Given the description of an element on the screen output the (x, y) to click on. 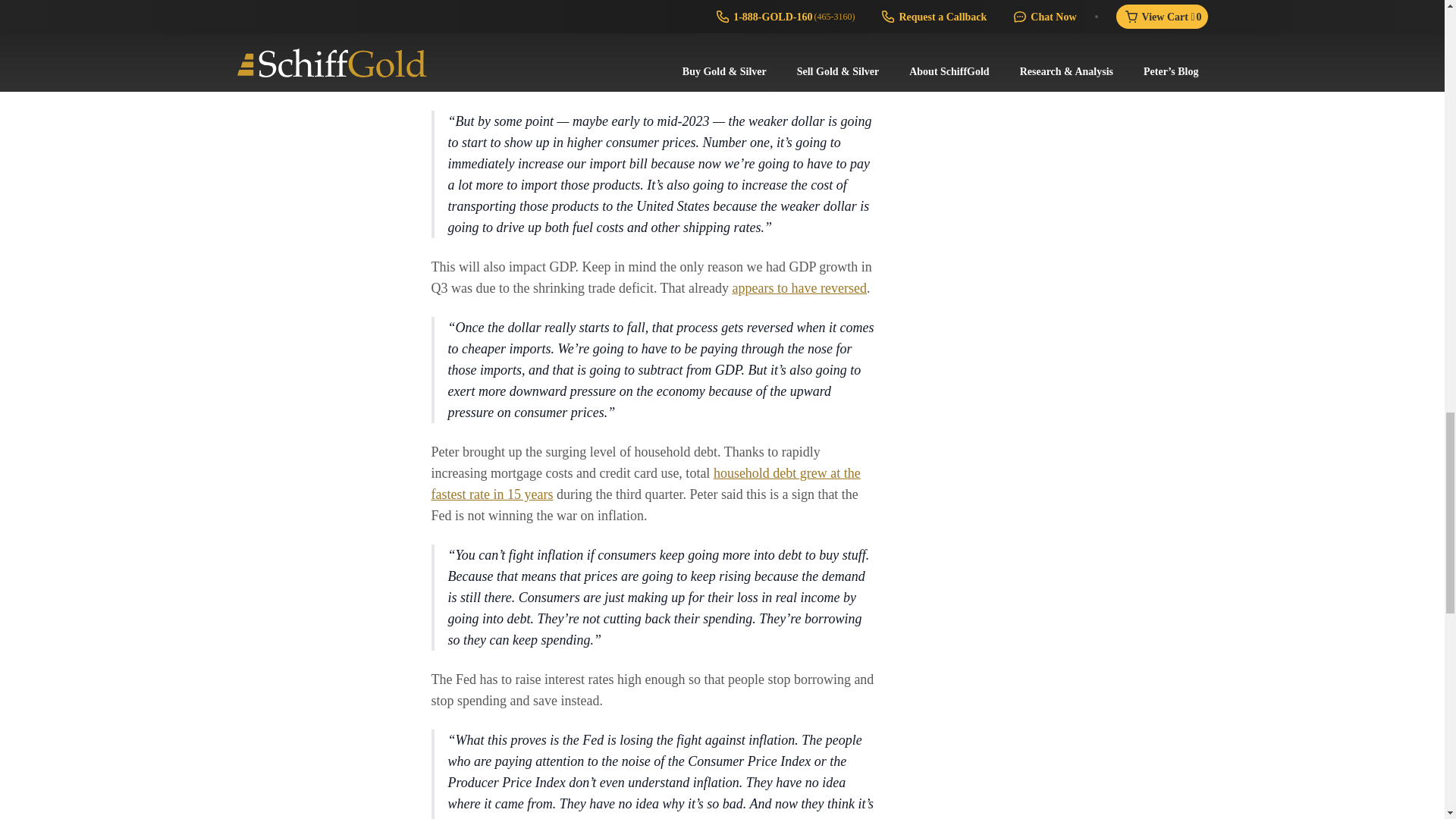
appears to have reversed (799, 287)
household debt grew at the fastest rate in 15 years (645, 484)
